Given the description of an element on the screen output the (x, y) to click on. 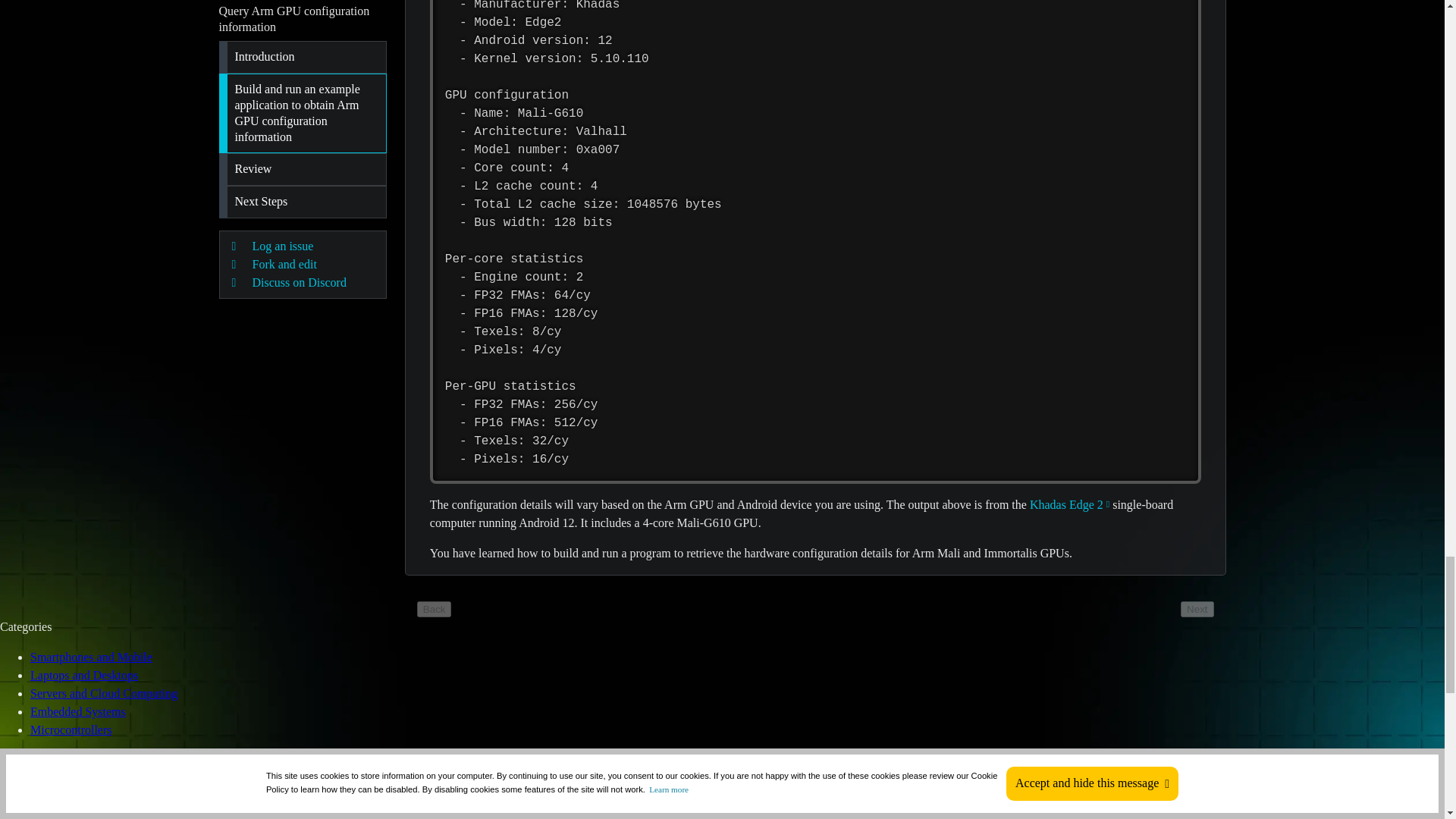
Khadas Edge 2 (1069, 504)
